Given the description of an element on the screen output the (x, y) to click on. 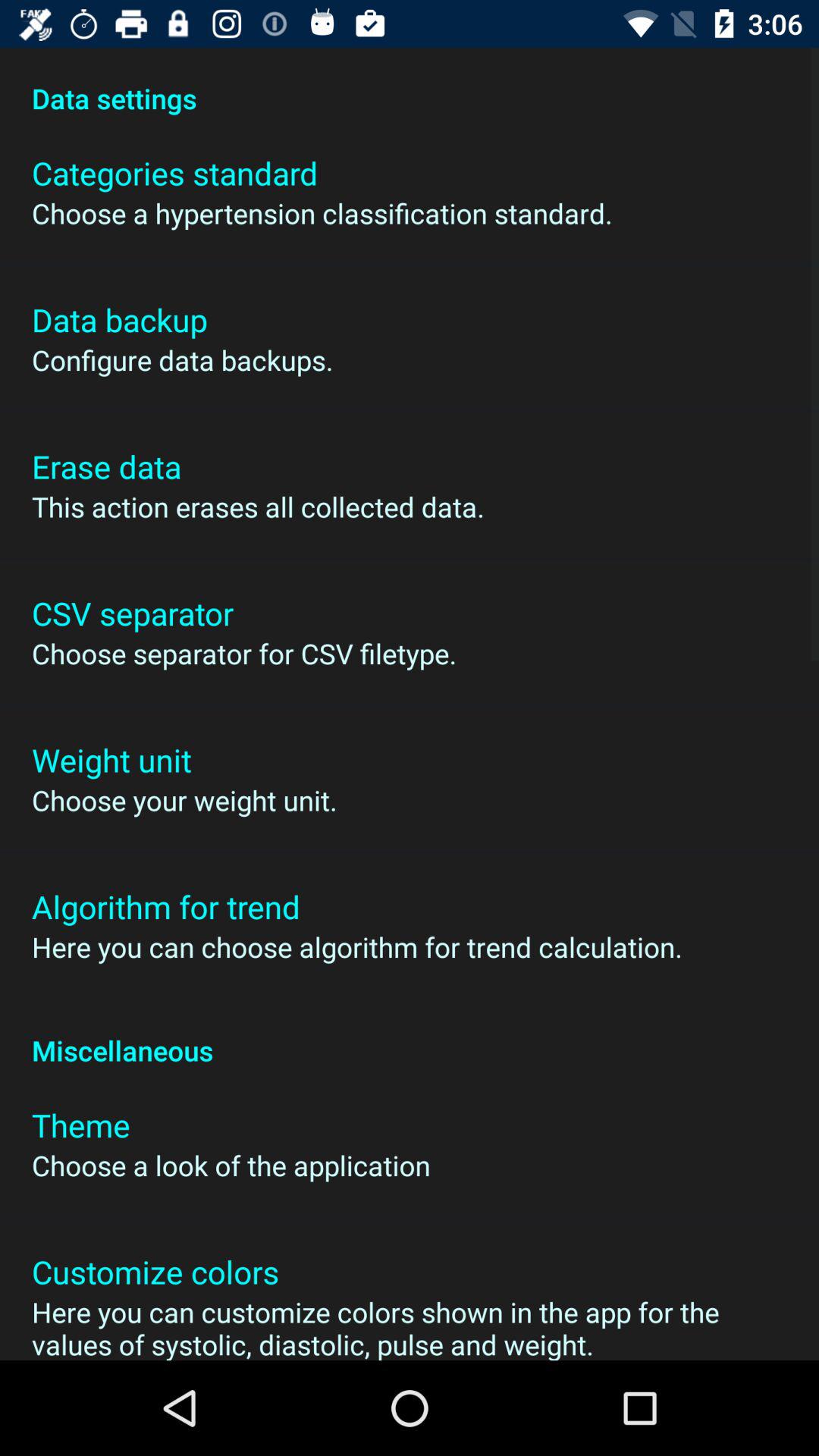
press the categories standard icon (174, 172)
